Given the description of an element on the screen output the (x, y) to click on. 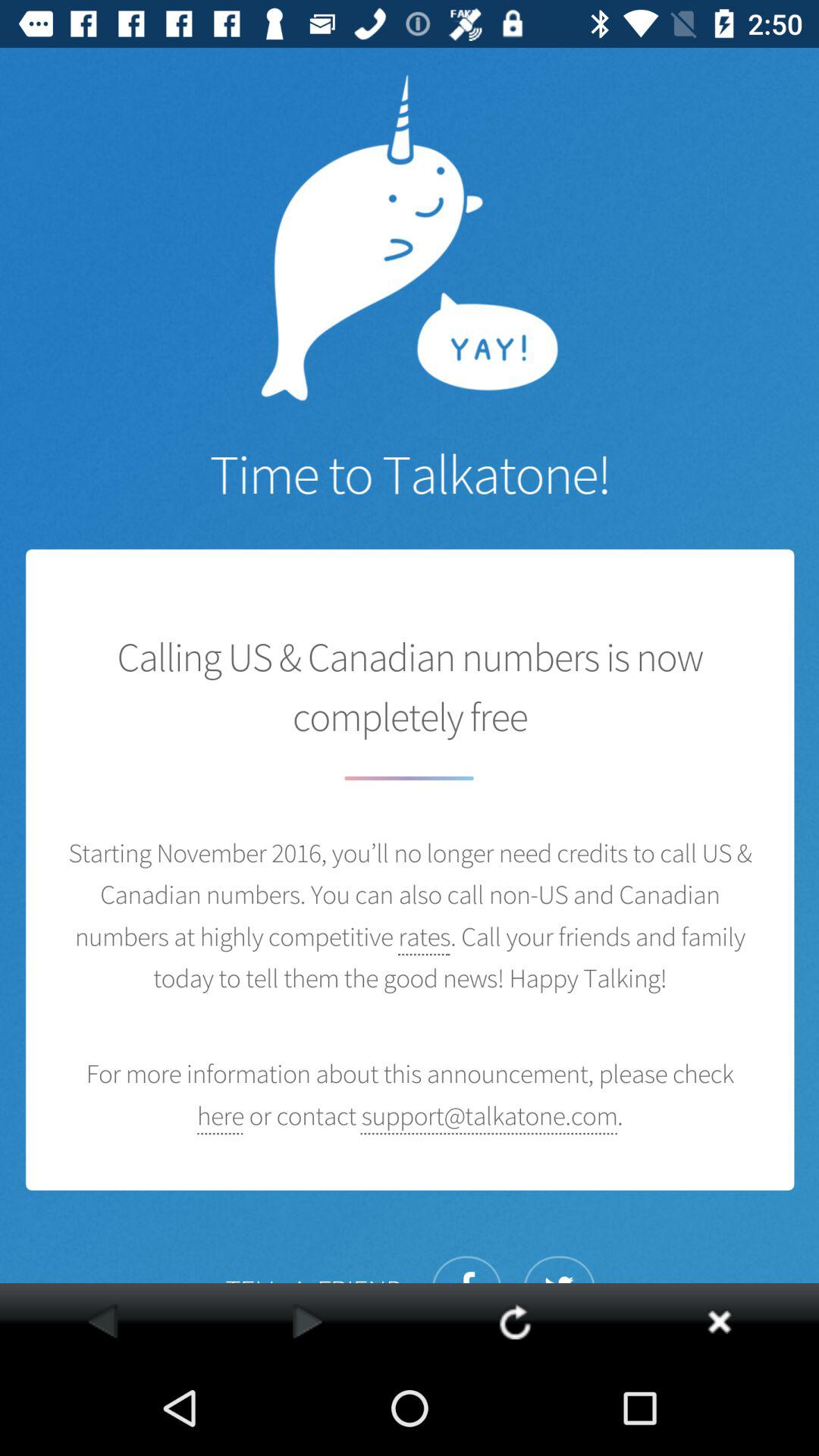
close the app (719, 1321)
